Given the description of an element on the screen output the (x, y) to click on. 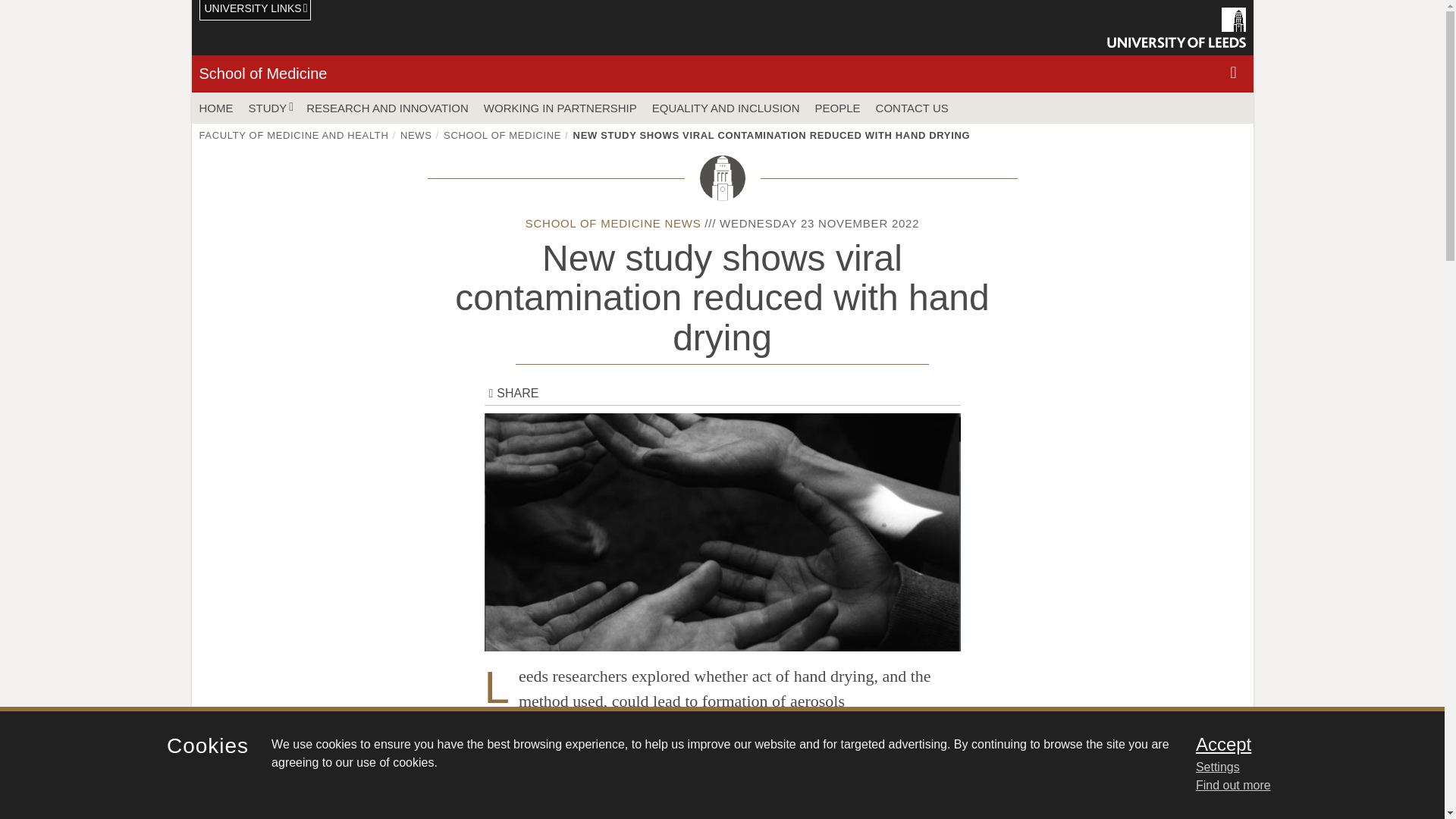
Settings (1300, 767)
Find out more (1233, 784)
Accept (1300, 744)
University of Leeds homepage (1176, 27)
UNIVERSITY LINKS (254, 10)
